Given the description of an element on the screen output the (x, y) to click on. 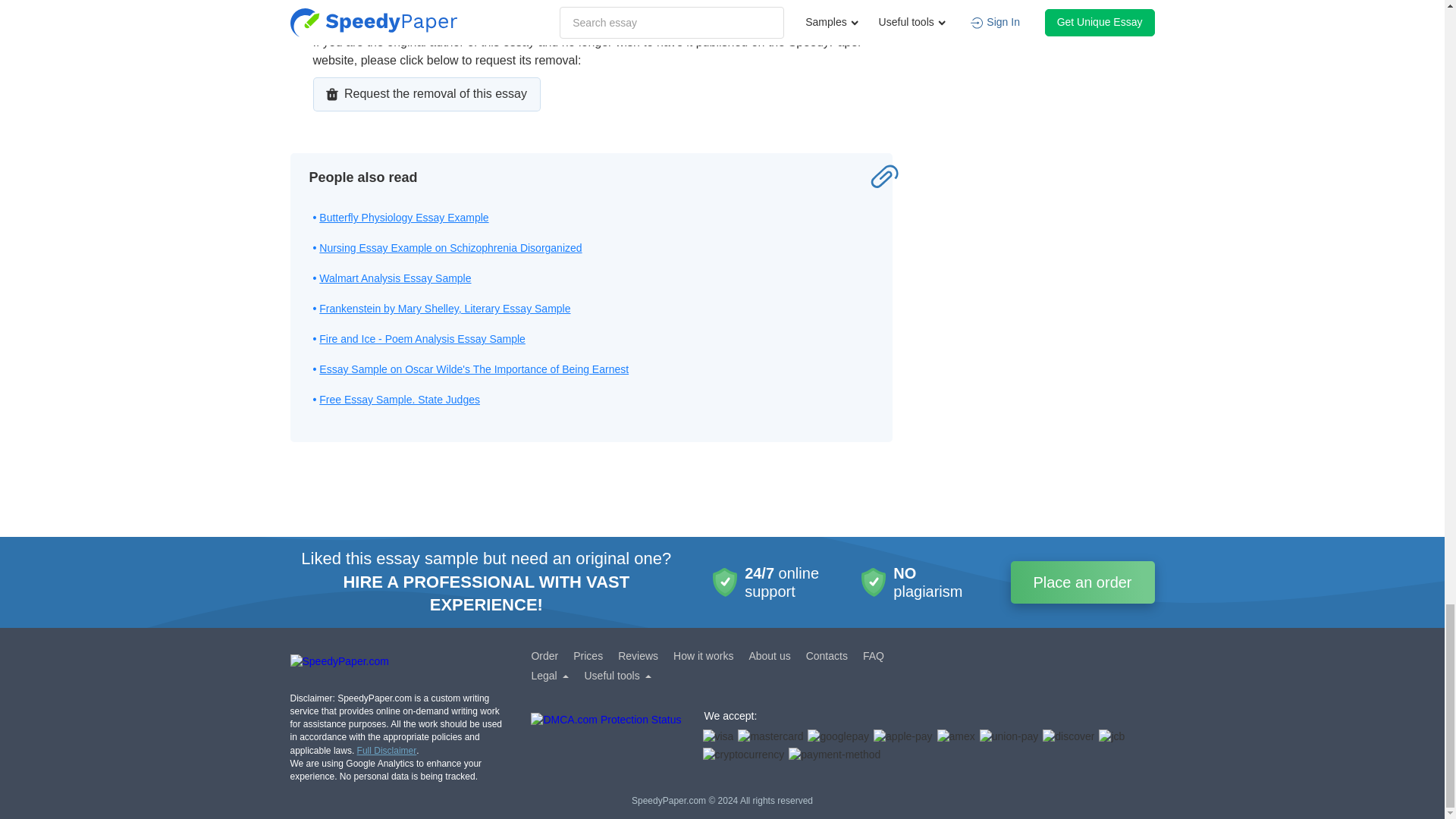
discover (1068, 736)
googlepay (838, 736)
mastercard (770, 736)
amex (956, 736)
apple-pay (903, 736)
DMCA.com Protection Status (606, 738)
jcb (1111, 736)
payment-method (834, 754)
cryptocurrency (742, 754)
visa (717, 736)
union-pay (1009, 736)
